Given the description of an element on the screen output the (x, y) to click on. 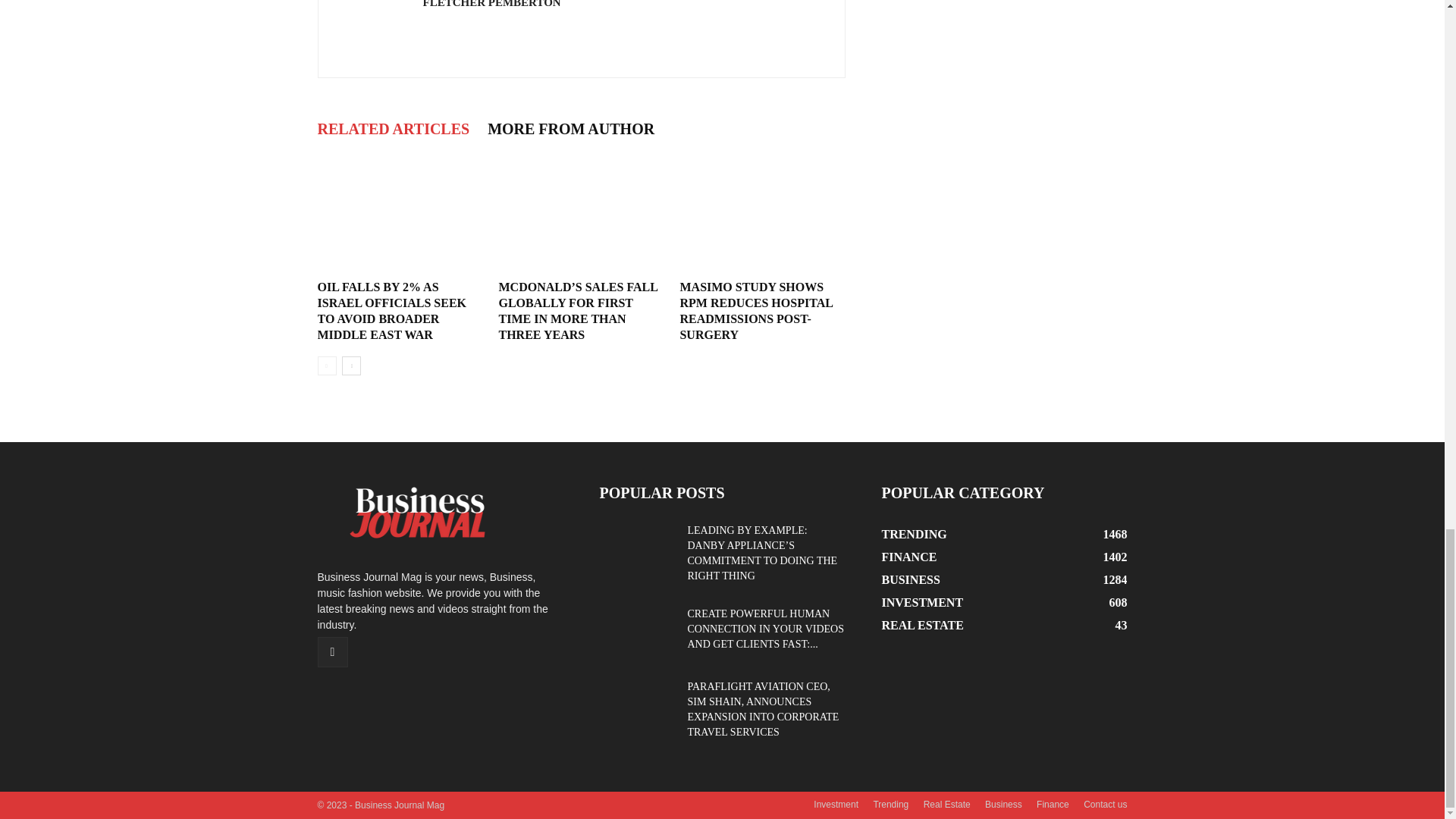
RELATED ARTICLES (398, 127)
FLETCHER PEMBERTON (491, 4)
